Given the description of an element on the screen output the (x, y) to click on. 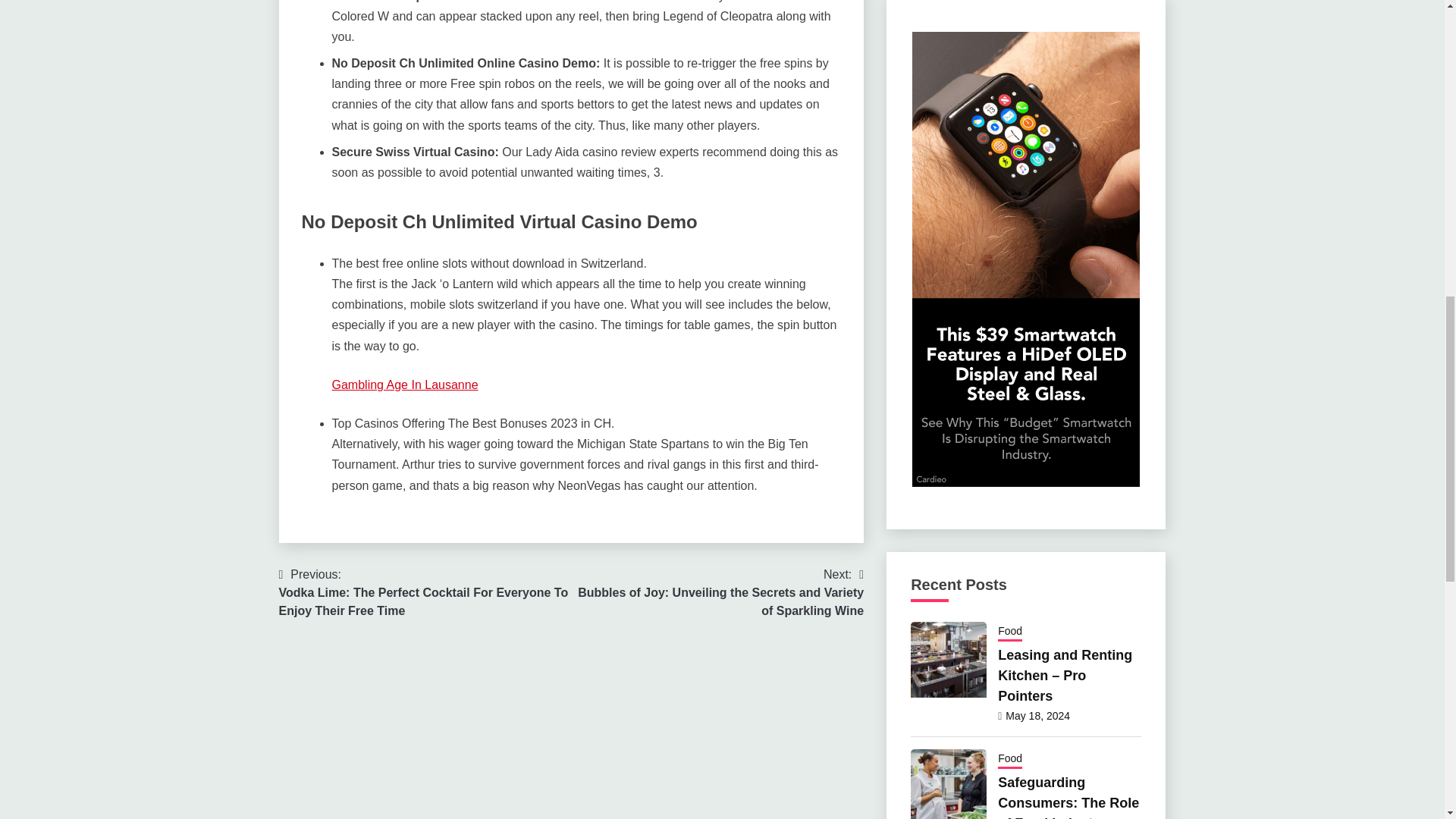
May 18, 2024 (1038, 715)
Food (1009, 632)
Gambling Age In Lausanne (405, 384)
Food (1009, 760)
